Given the description of an element on the screen output the (x, y) to click on. 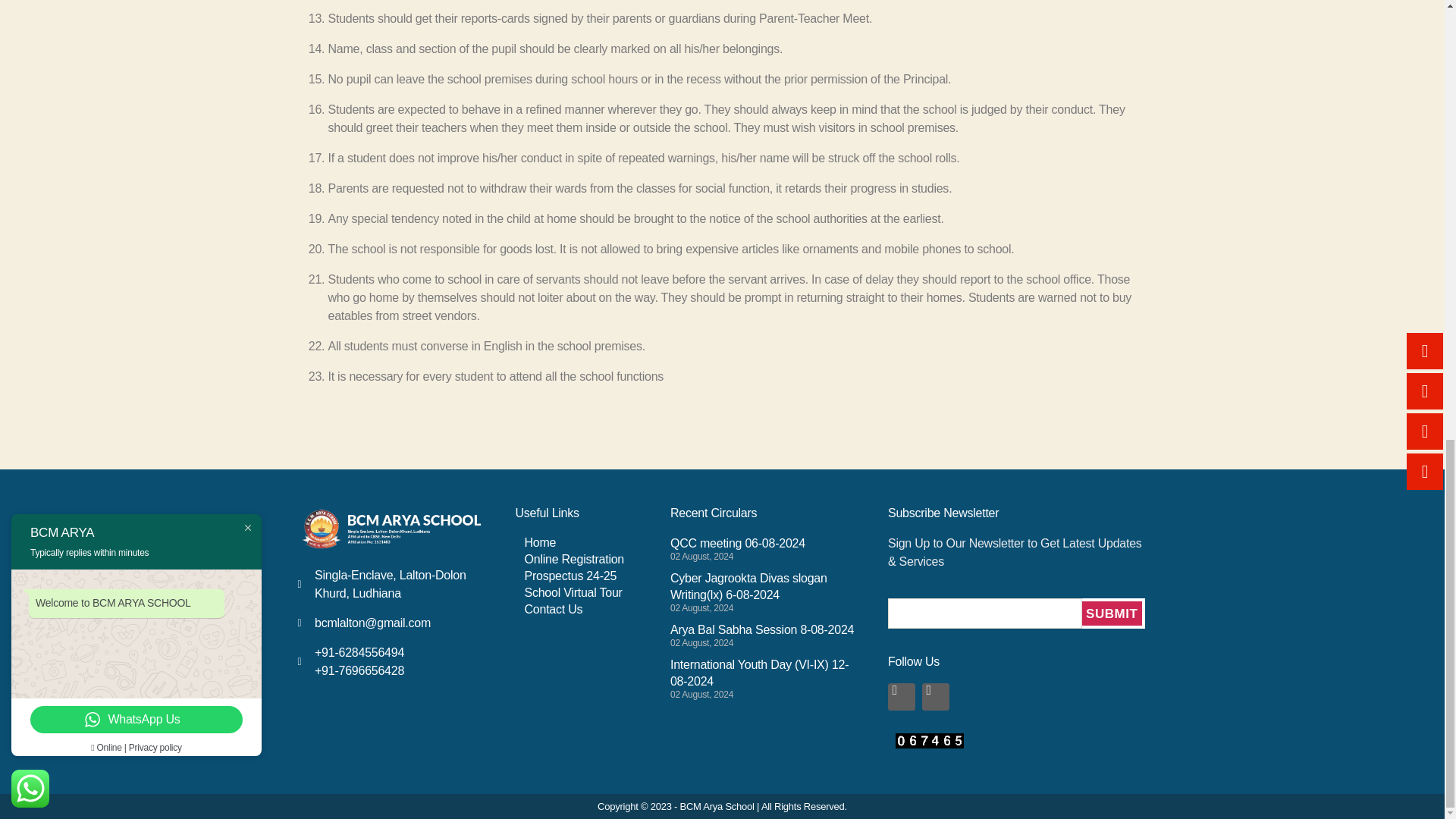
Submit (763, 634)
